Given the description of an element on the screen output the (x, y) to click on. 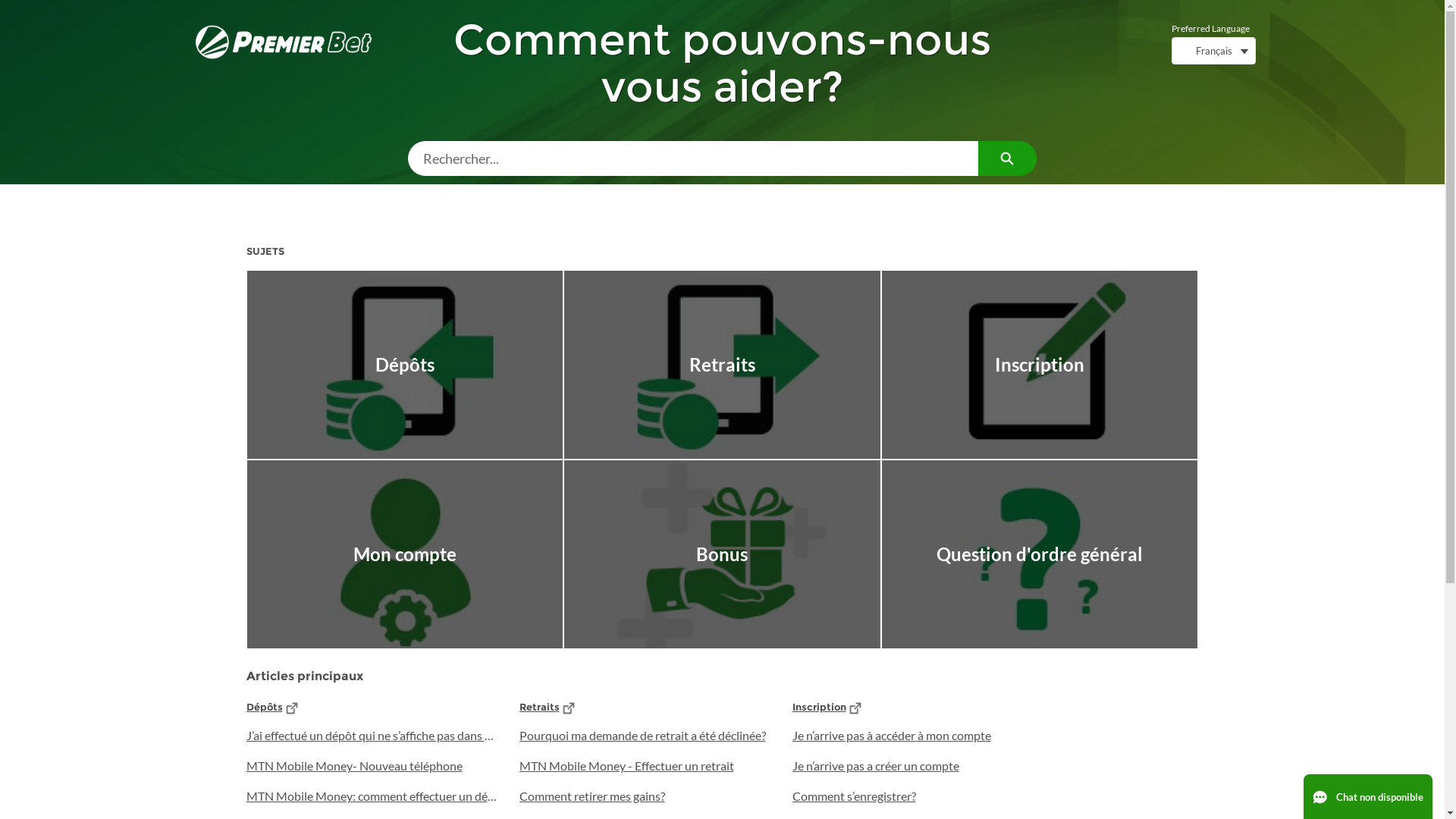
Premier Bet Parifoot Element type: text (283, 41)
MTN Mobile Money - Effectuer un retrait Element type: text (644, 765)
Inscription Element type: text (1039, 364)
Aller au contenu principal Element type: text (9, 4)
Bonus Element type: text (722, 554)
Retraits Element type: text (538, 706)
Inscription Element type: text (818, 706)
Comment retirer mes gains? Element type: text (644, 796)
Rechercher Element type: text (1007, 158)
Retraits Element type: text (722, 364)
Mon compte Element type: text (405, 554)
